Given the description of an element on the screen output the (x, y) to click on. 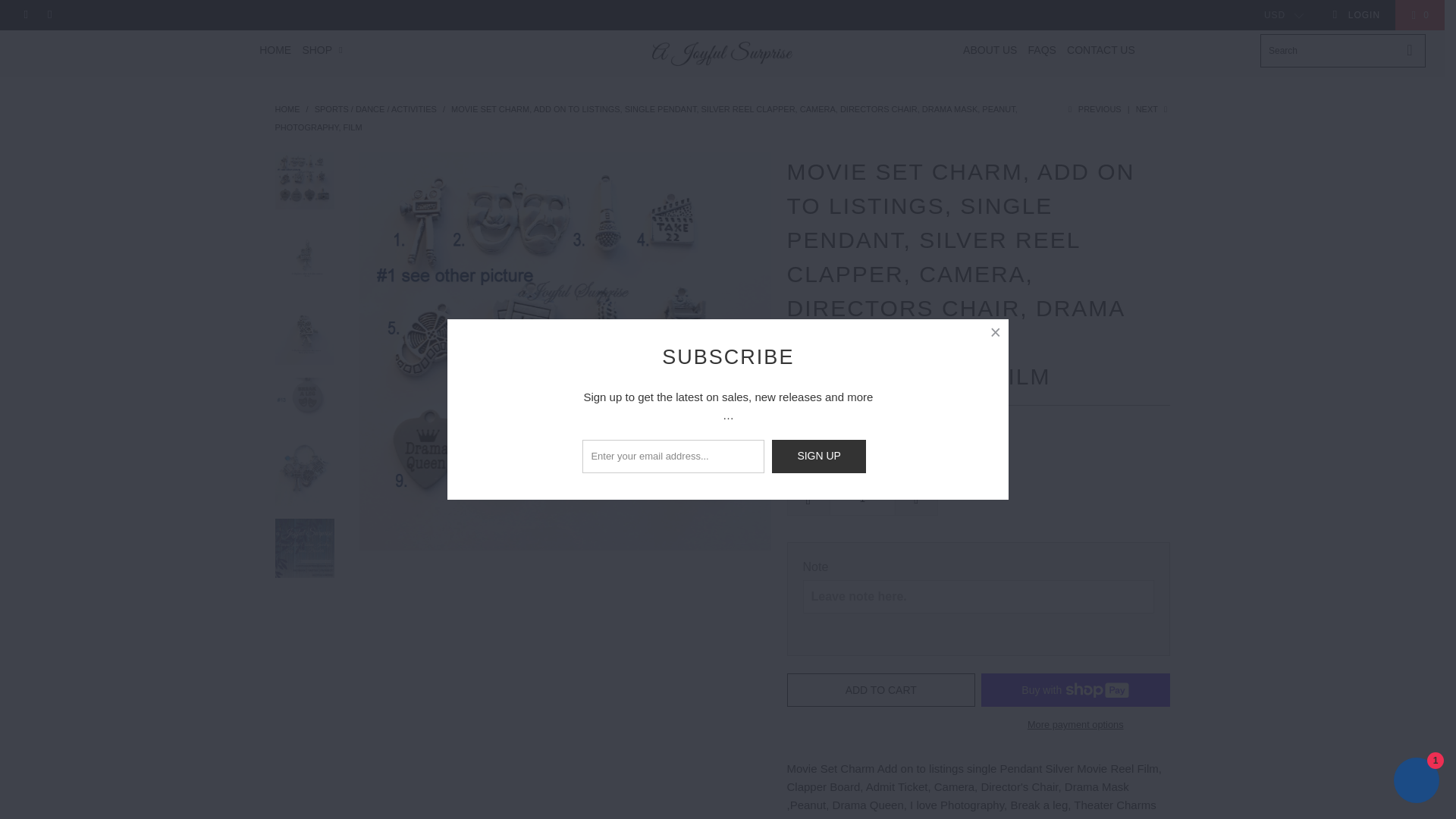
Previous (1092, 108)
A Joyful Surprise on Instagram (48, 14)
A Joyful Surprise on Facebook (25, 14)
My Account  (1355, 15)
A Joyful Surprise (287, 108)
1 (862, 498)
Next (1152, 108)
A Joyful Surprise (722, 53)
Sign Up (818, 456)
